Given the description of an element on the screen output the (x, y) to click on. 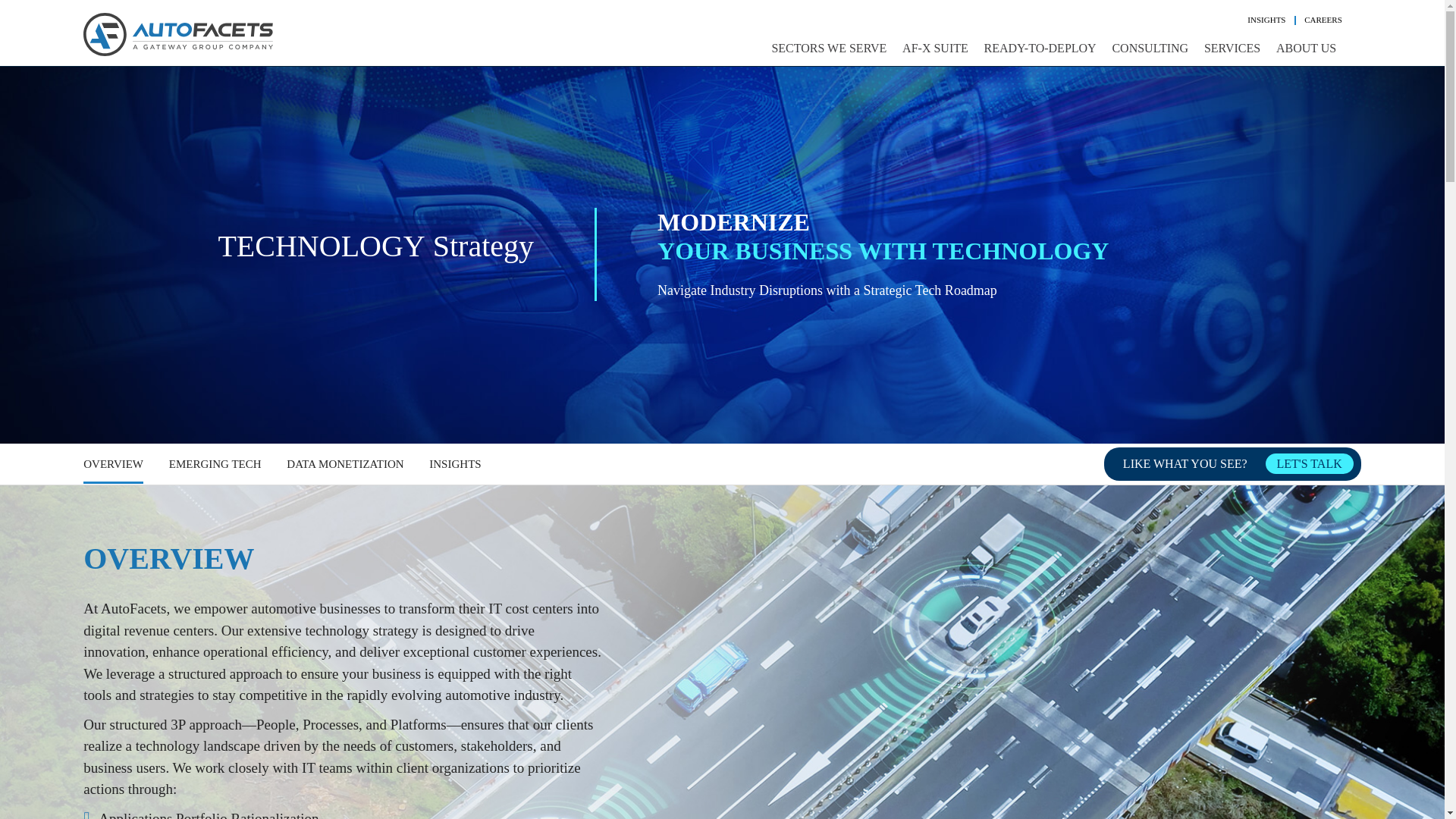
SECTORS WE SERVE (828, 48)
AF-X SUITE (935, 48)
INSIGHTS (1266, 19)
CAREERS (1323, 19)
READY-TO-DEPLOY (1040, 48)
